Given the description of an element on the screen output the (x, y) to click on. 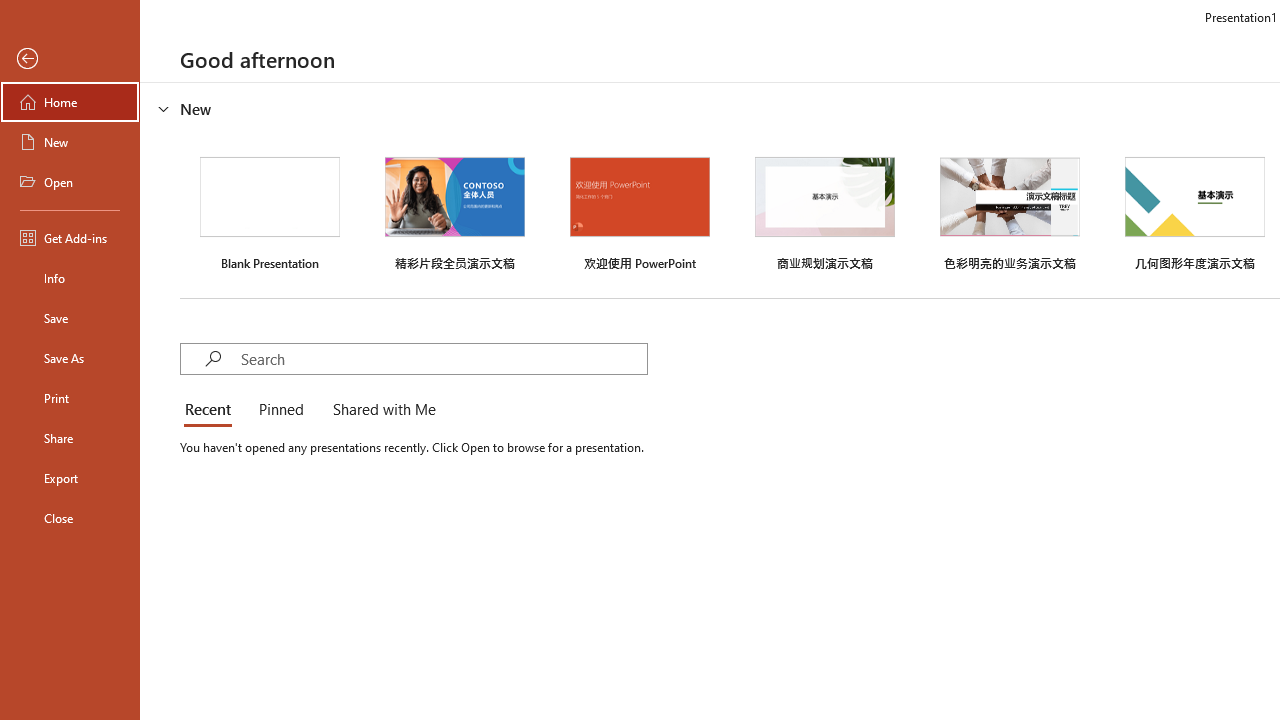
Info (69, 277)
Pinned (280, 410)
New (69, 141)
Hide or show region (164, 108)
Recent (212, 410)
Back (69, 59)
Blank Presentation (269, 211)
Get Add-ins (69, 237)
